Given the description of an element on the screen output the (x, y) to click on. 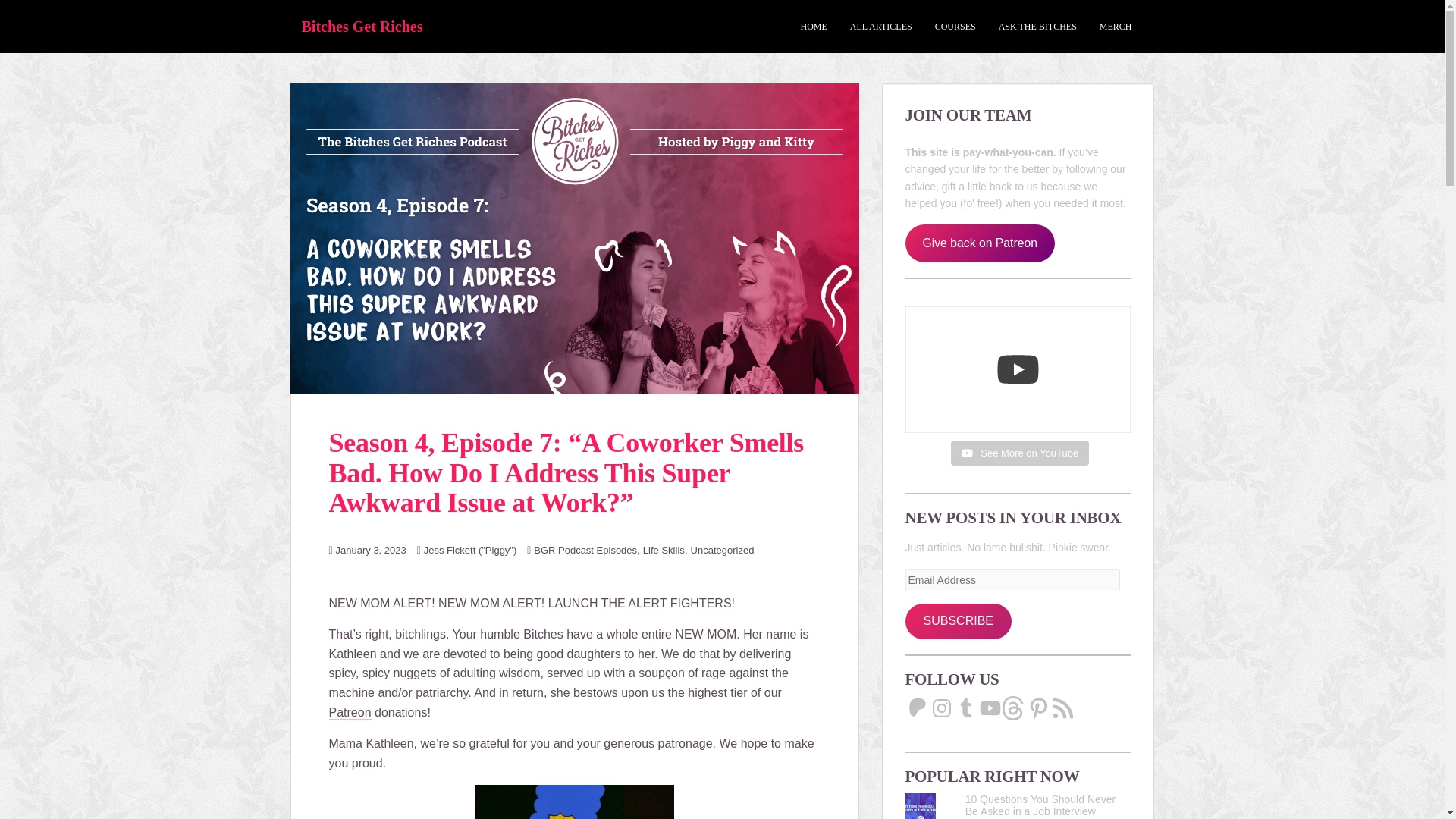
10 Questions You Should Never Be Asked in a Job Interview (1040, 805)
Life Skills (663, 550)
Uncategorized (722, 550)
COURSES (954, 26)
Bitches Get Riches (361, 26)
Bitches Get Riches (361, 26)
Patreon (350, 712)
ALL ARTICLES (881, 26)
MERCH (1115, 26)
BGR Podcast Episodes (585, 550)
January 3, 2023 (371, 550)
ASK THE BITCHES (1037, 26)
